Given the description of an element on the screen output the (x, y) to click on. 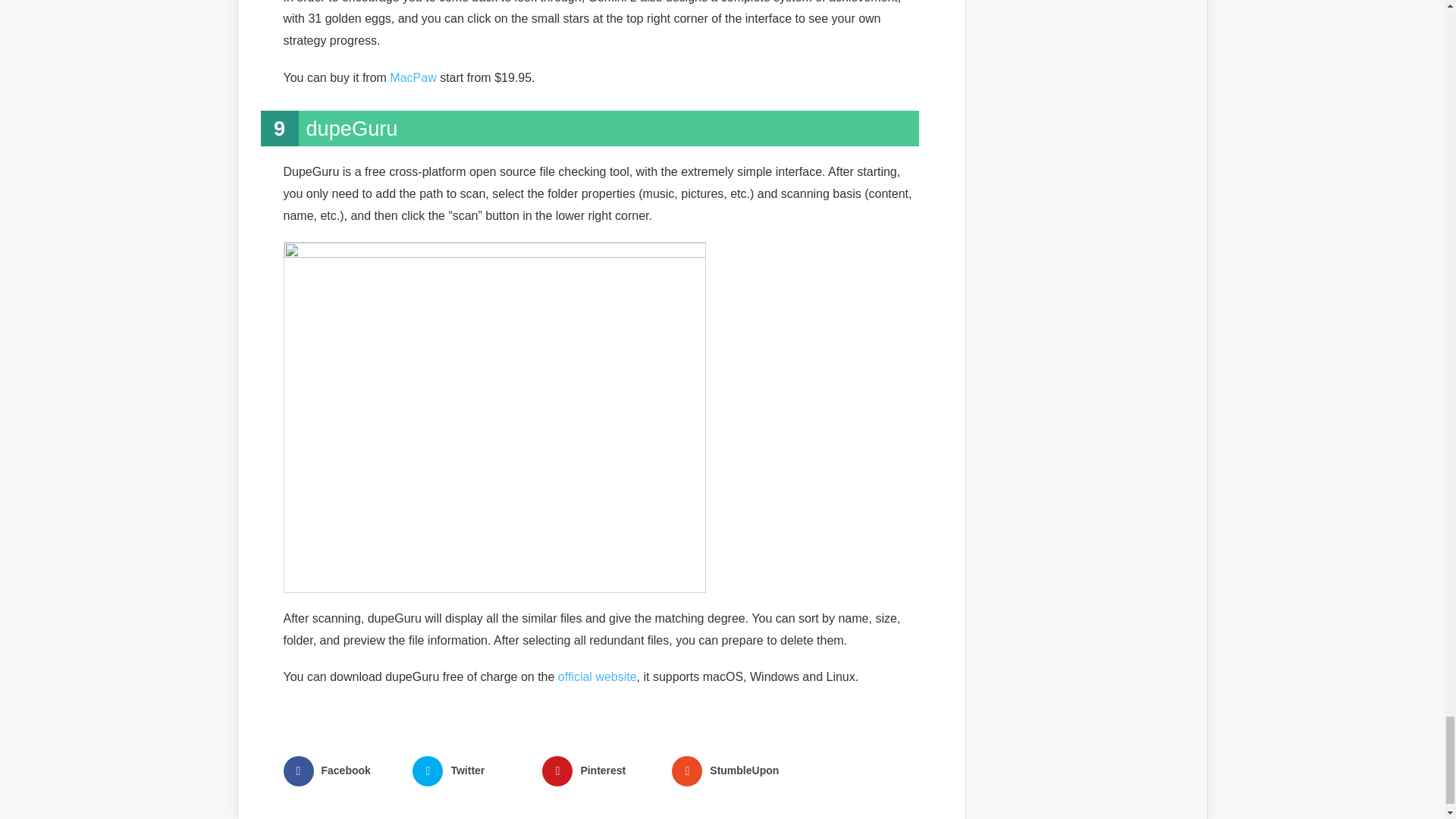
official website (597, 676)
Facebook (341, 770)
MacPaw (412, 77)
Pinterest (600, 770)
Twitter (470, 770)
StumbleUpon (730, 770)
